Given the description of an element on the screen output the (x, y) to click on. 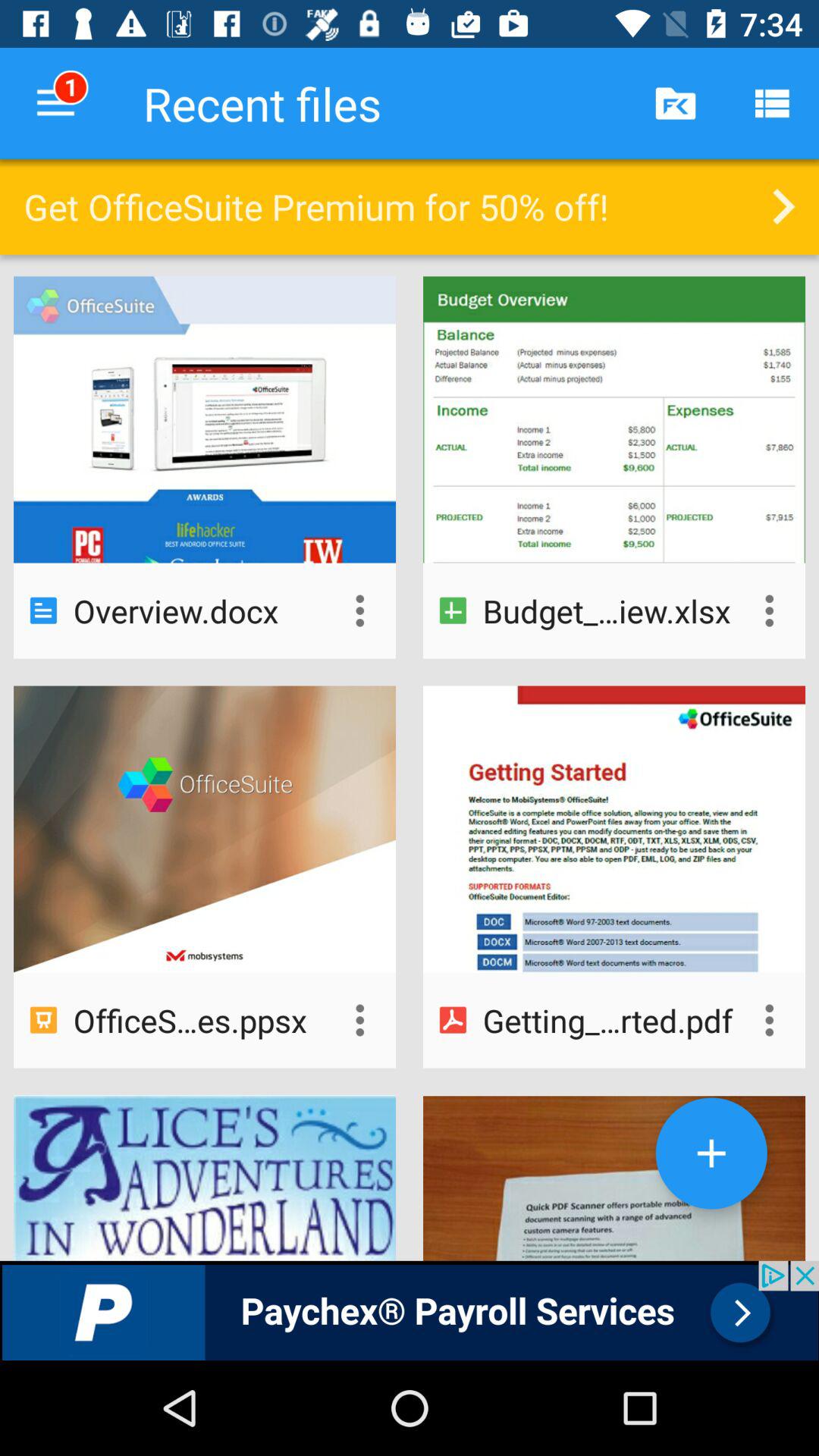
open pdf (769, 1020)
